Given the description of an element on the screen output the (x, y) to click on. 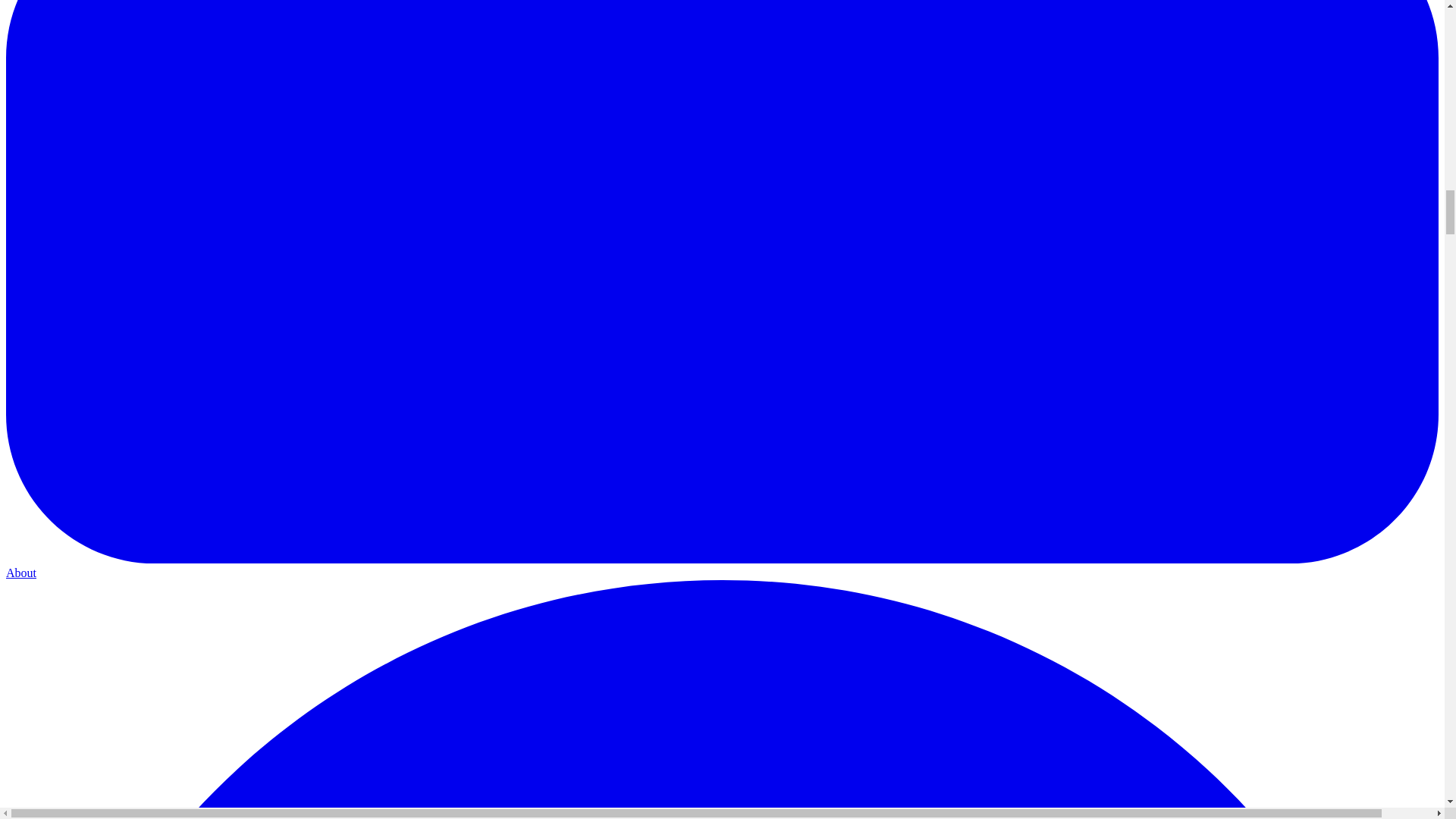
About (721, 565)
